Given the description of an element on the screen output the (x, y) to click on. 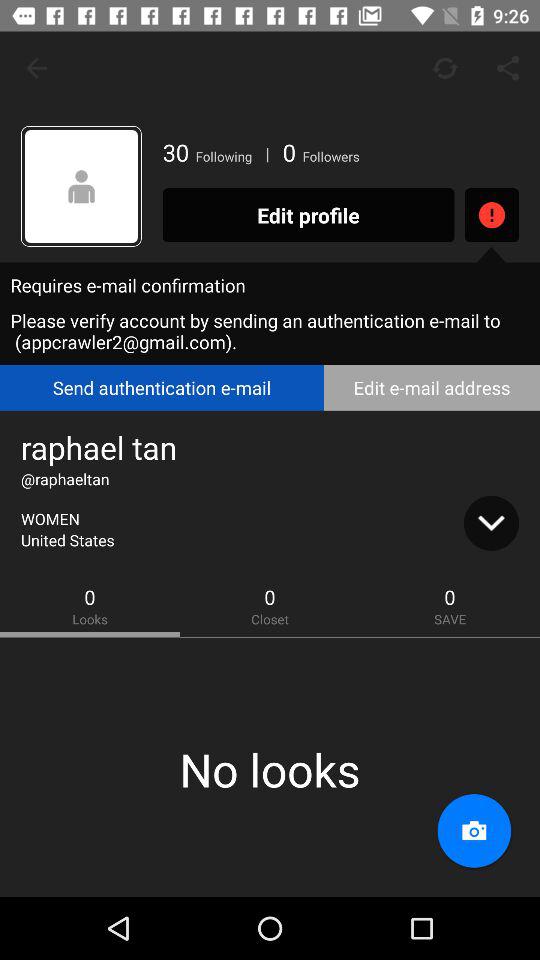
tap the icon next to the 30 icon (81, 186)
